Given the description of an element on the screen output the (x, y) to click on. 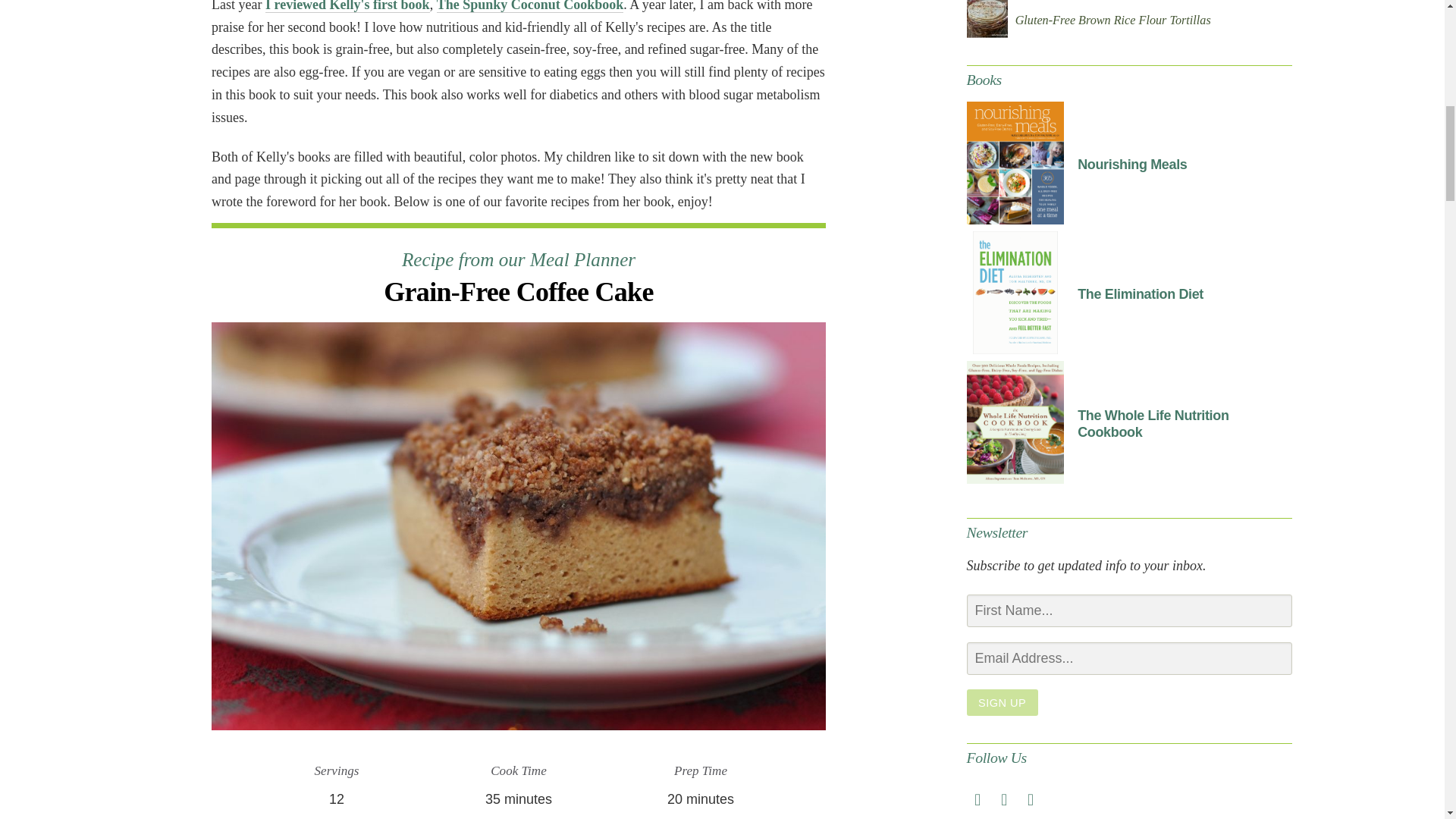
Grain-Free Coffee Cake (518, 291)
The Spunky Coconut Cookbook (530, 6)
I reviewed Kelly's first book (346, 6)
